Given the description of an element on the screen output the (x, y) to click on. 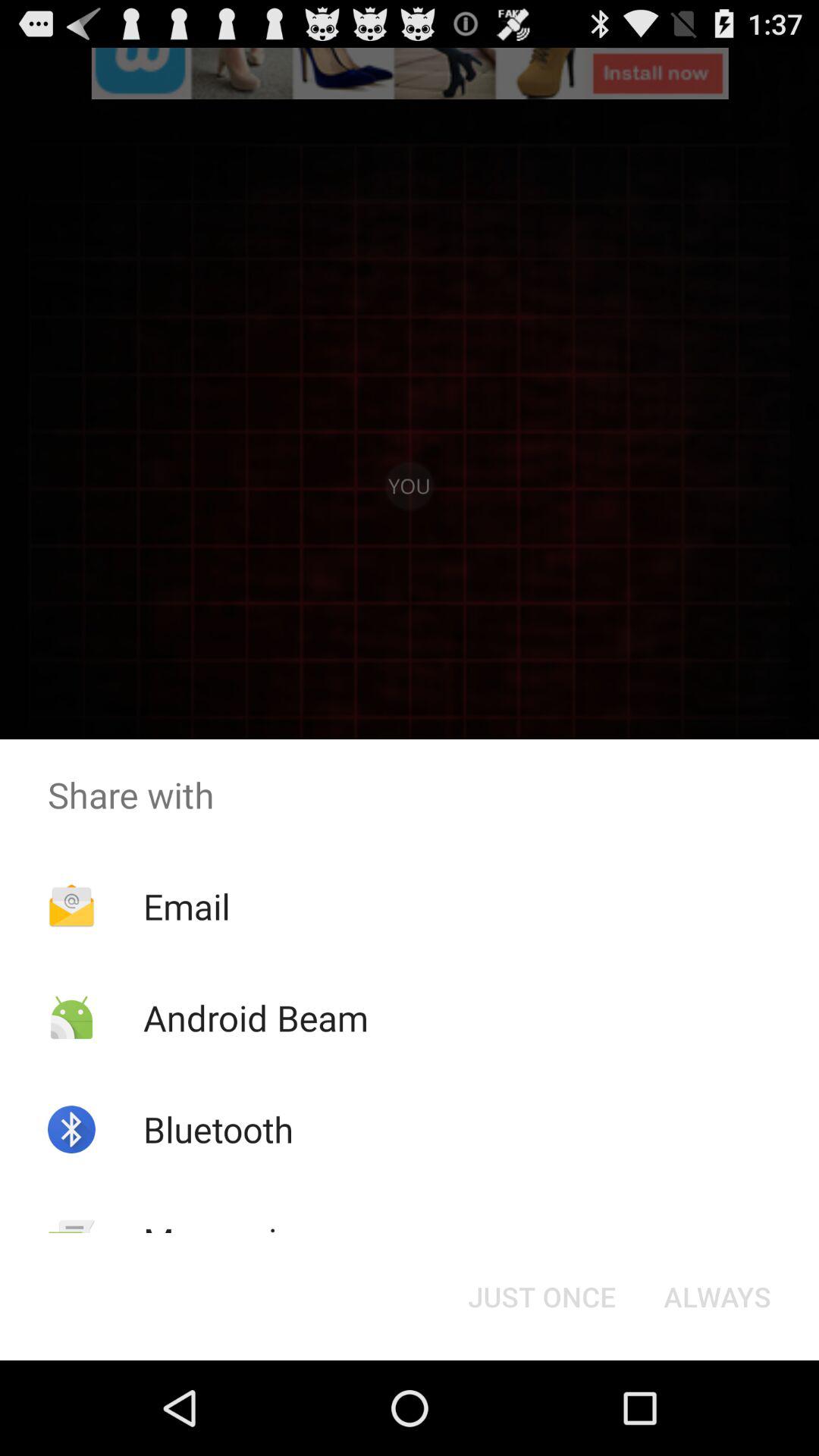
scroll until android beam item (255, 1017)
